Given the description of an element on the screen output the (x, y) to click on. 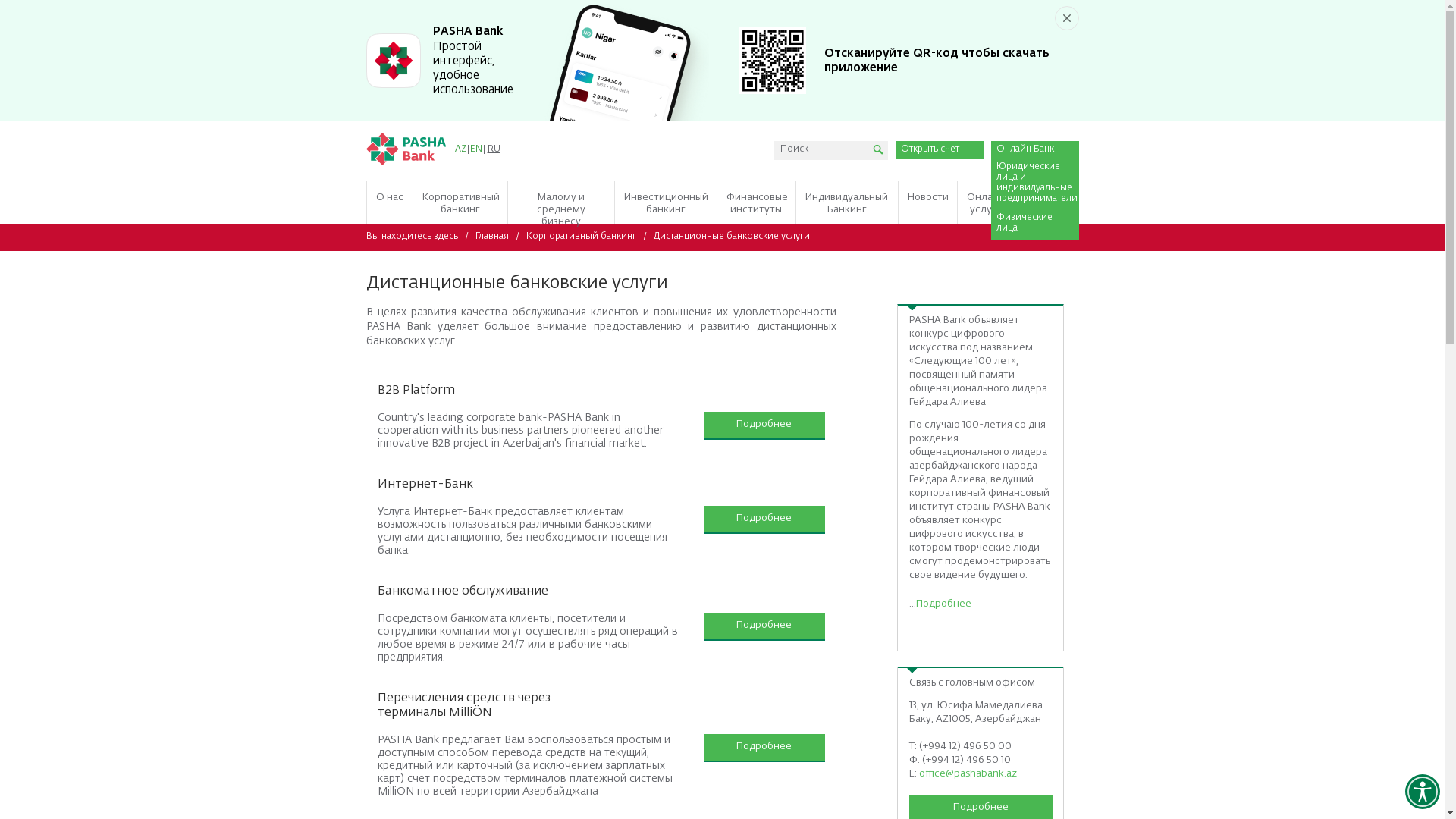
EN Element type: text (475, 148)
office@pashabank.az Element type: text (967, 773)
AZ Element type: text (459, 148)
